Given the description of an element on the screen output the (x, y) to click on. 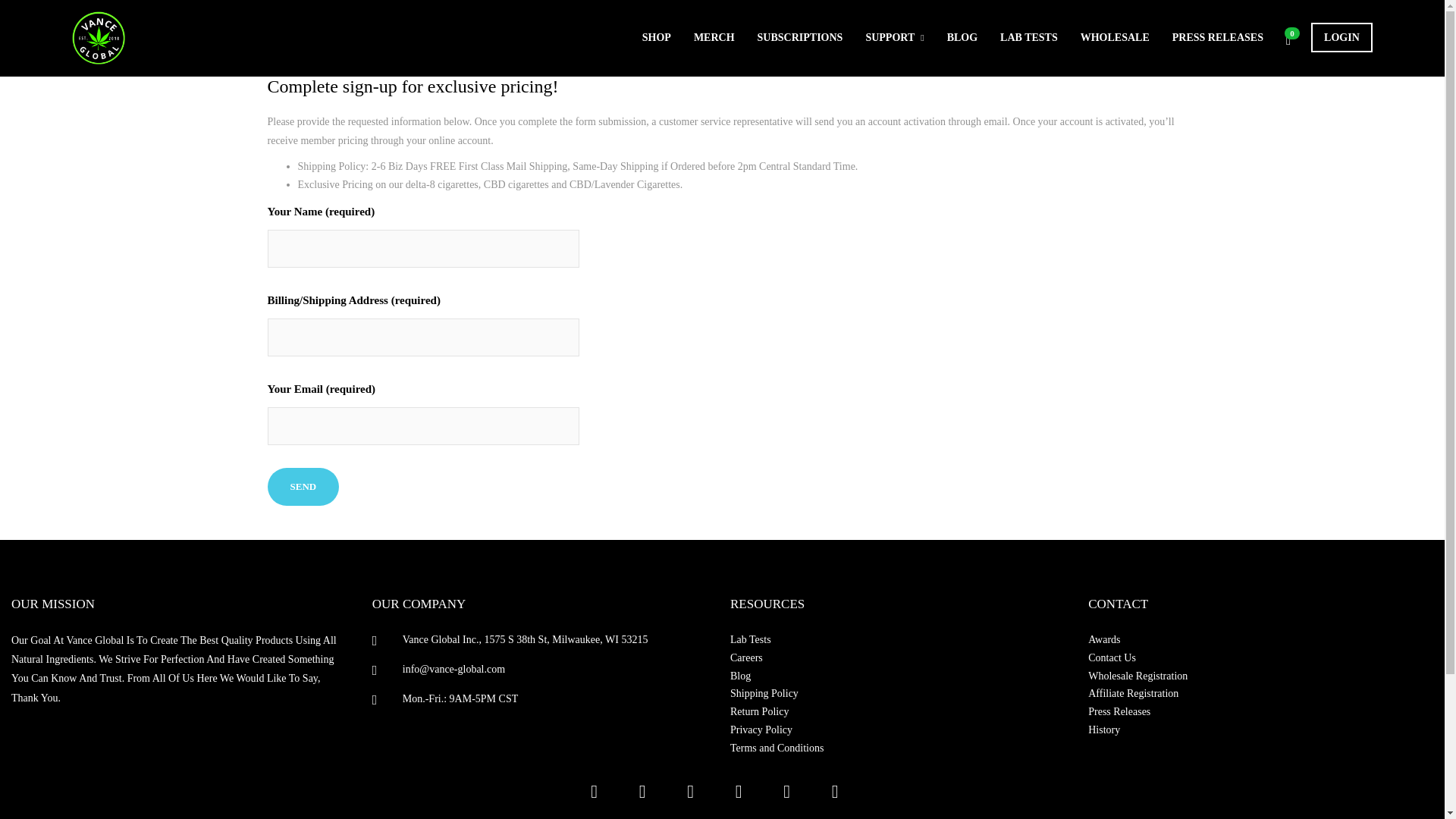
Privacy Policy (899, 730)
PRESS RELEASES (1217, 38)
Send (302, 486)
Return Policy (899, 711)
SUBSCRIPTIONS (800, 38)
Contact Us (1256, 658)
Press Releases (1256, 711)
Terms and Conditions (899, 748)
Lab Tests (899, 639)
Affiliate Registration (1256, 693)
WHOLESALE (1115, 38)
Blog (899, 676)
Shipping Policy (899, 693)
Awards (1256, 639)
Careers (899, 658)
